Given the description of an element on the screen output the (x, y) to click on. 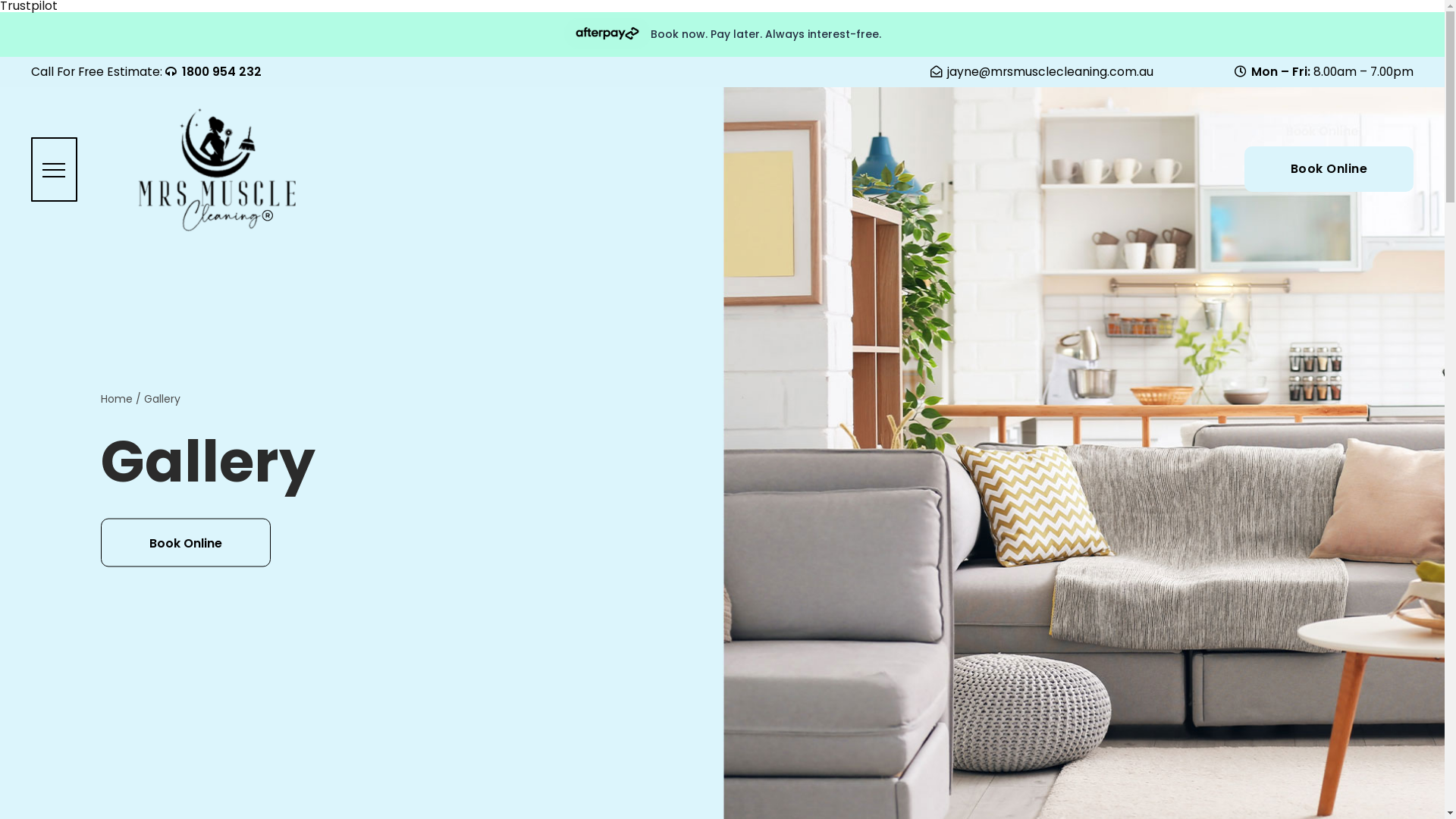
Home Element type: text (116, 397)
1800 954 232 Element type: text (213, 71)
jayne@mrsmusclecleaning.com.au Element type: text (1041, 71)
Book Online Element type: text (1328, 168)
Book Online Element type: text (185, 542)
